Given the description of an element on the screen output the (x, y) to click on. 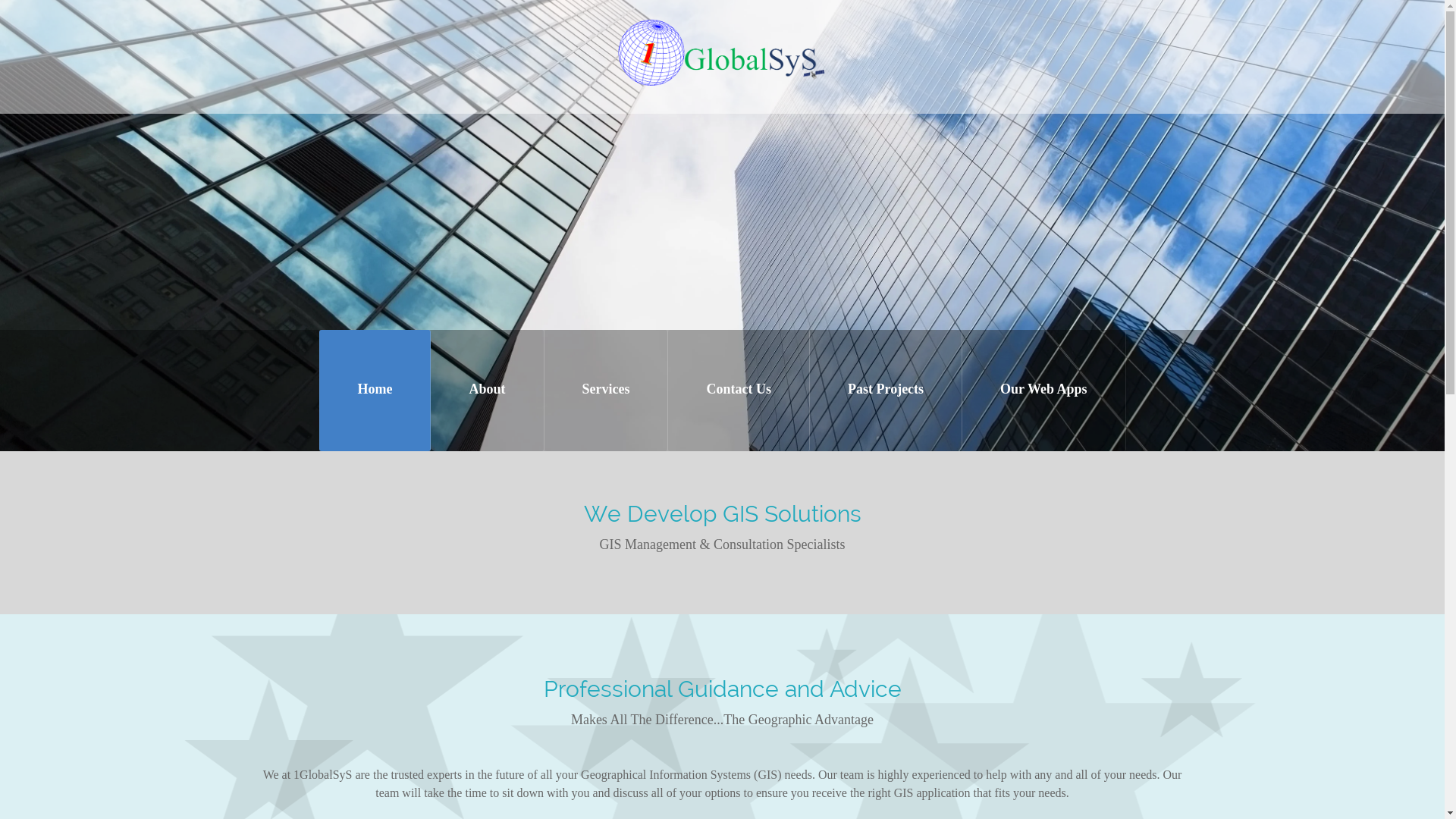
Home Element type: text (374, 390)
Services Element type: text (606, 390)
Go to site home page Element type: hover (721, 52)
Past Projects Element type: text (885, 390)
Contact Us Element type: text (738, 390)
Our Web Apps Element type: text (1043, 390)
About Element type: text (486, 390)
